Given the description of an element on the screen output the (x, y) to click on. 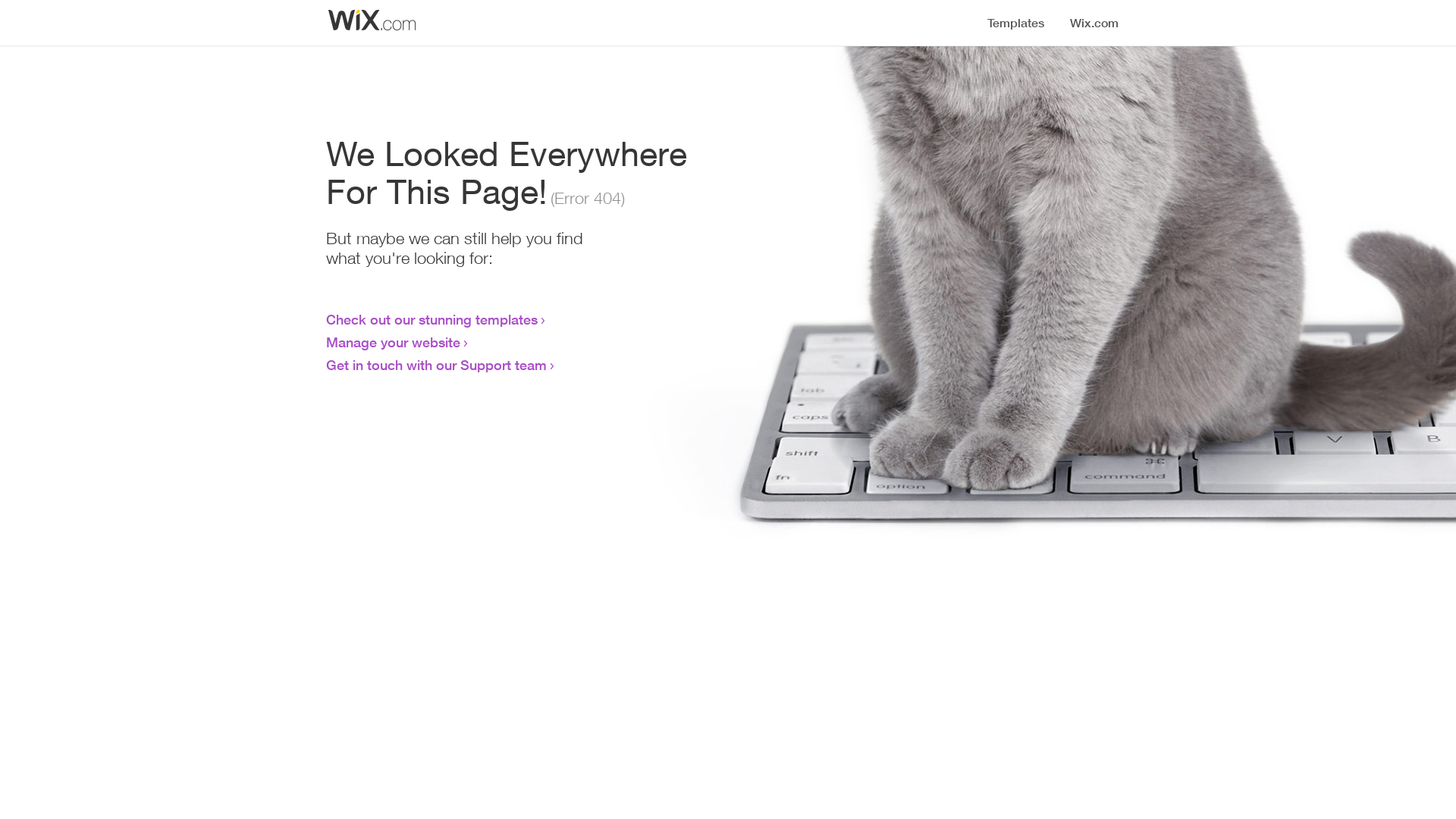
Get in touch with our Support team Element type: text (436, 364)
Manage your website Element type: text (393, 341)
Check out our stunning templates Element type: text (431, 318)
